Given the description of an element on the screen output the (x, y) to click on. 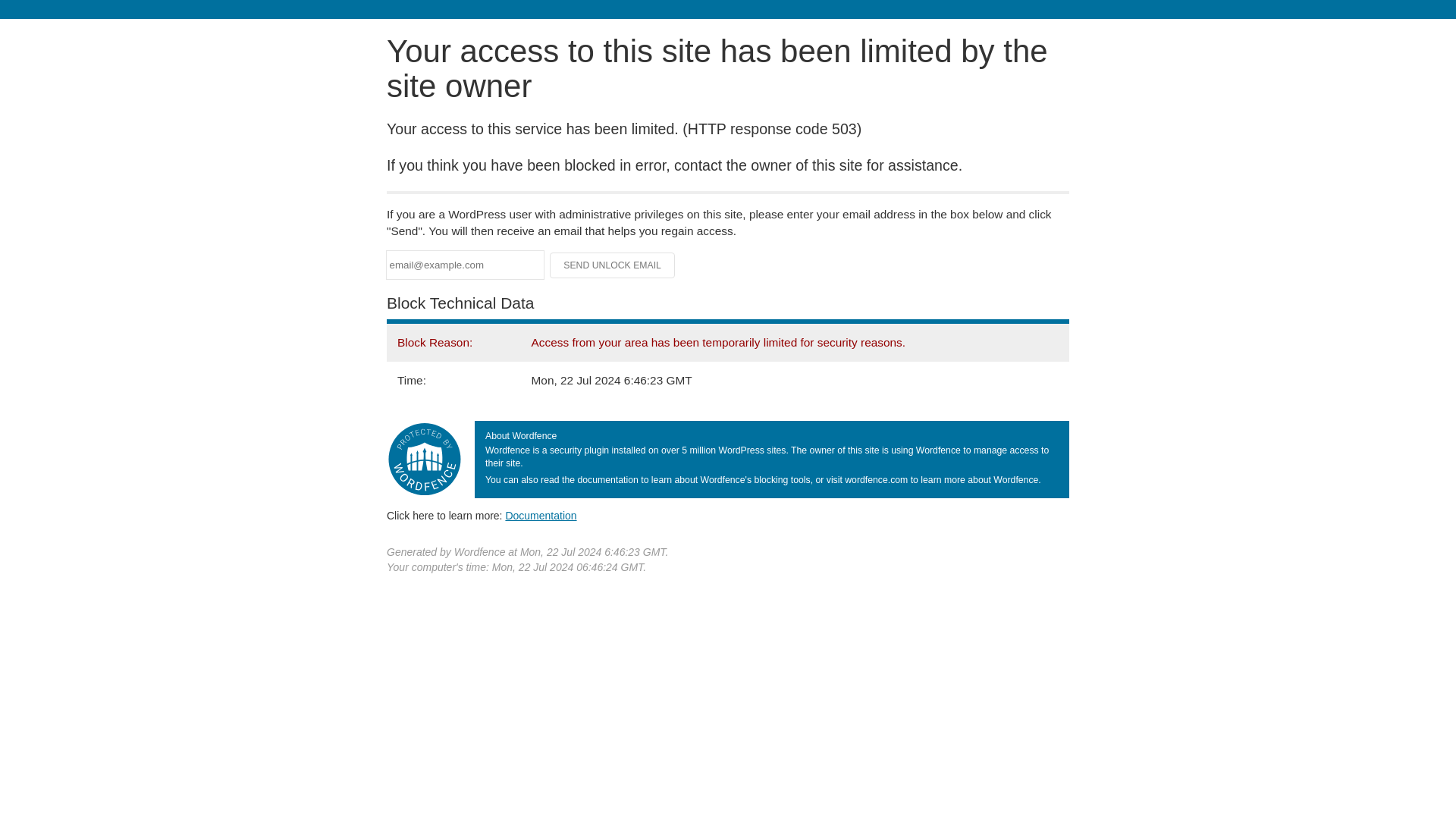
Documentation (540, 515)
Send Unlock Email (612, 265)
Send Unlock Email (612, 265)
